Given the description of an element on the screen output the (x, y) to click on. 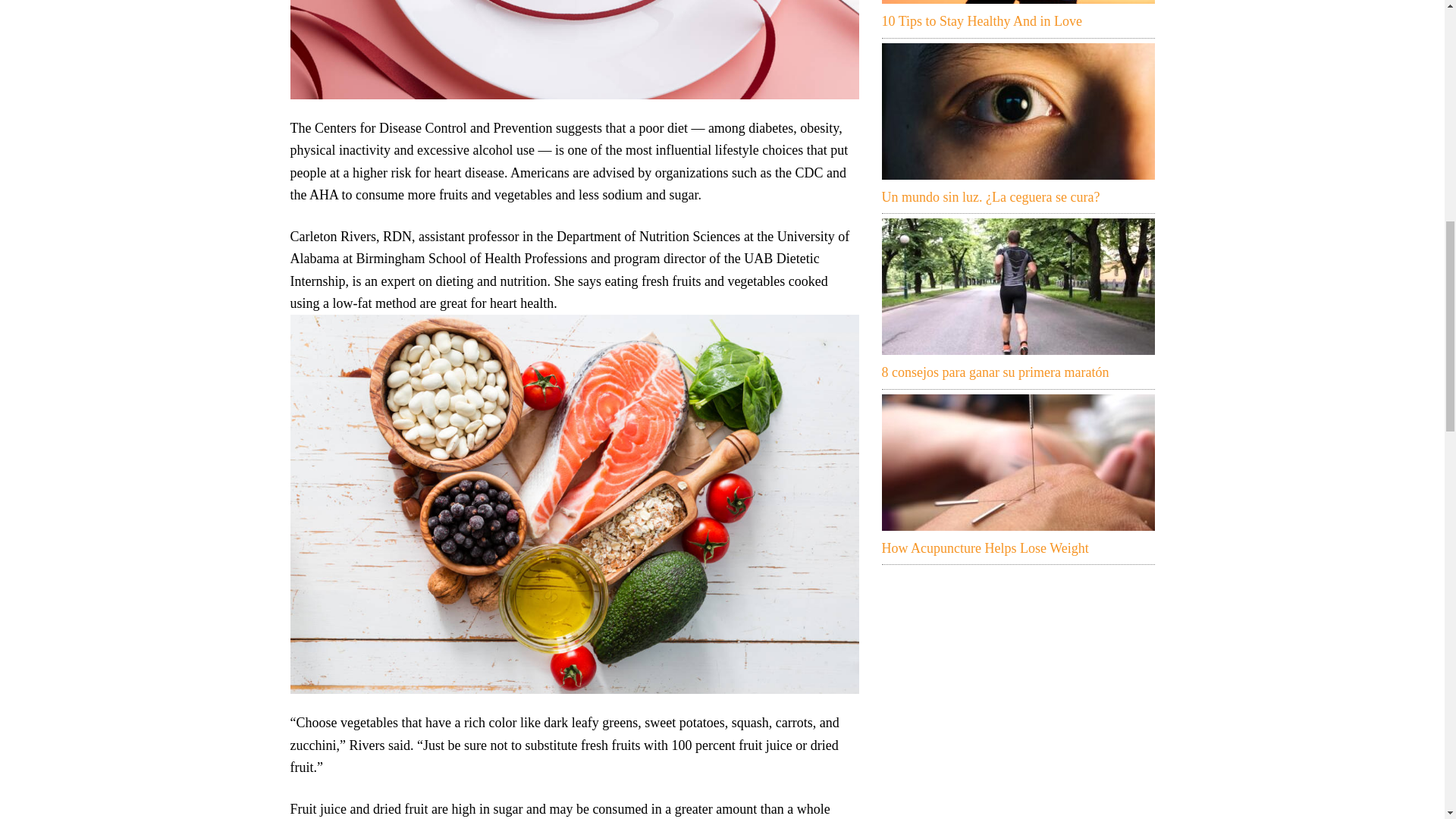
10 Tips to Stay Healthy And in Love (980, 20)
10 Tips to Stay Healthy And in Love (1017, 2)
How Acupuncture Helps Lose Weight (1017, 461)
